Given the description of an element on the screen output the (x, y) to click on. 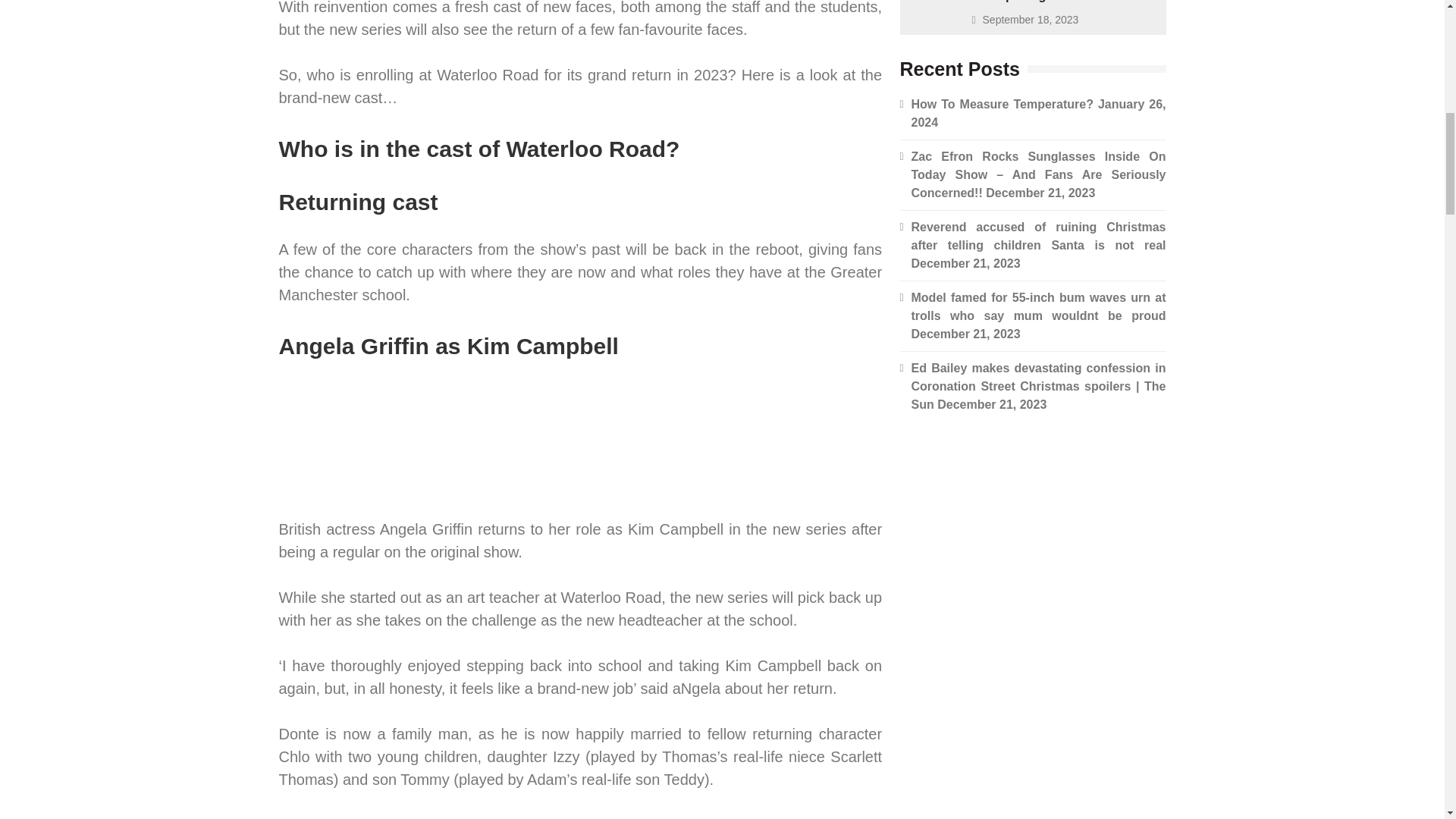
September 18, 2023 (1030, 19)
How To Measure Temperature? (1002, 103)
